Given the description of an element on the screen output the (x, y) to click on. 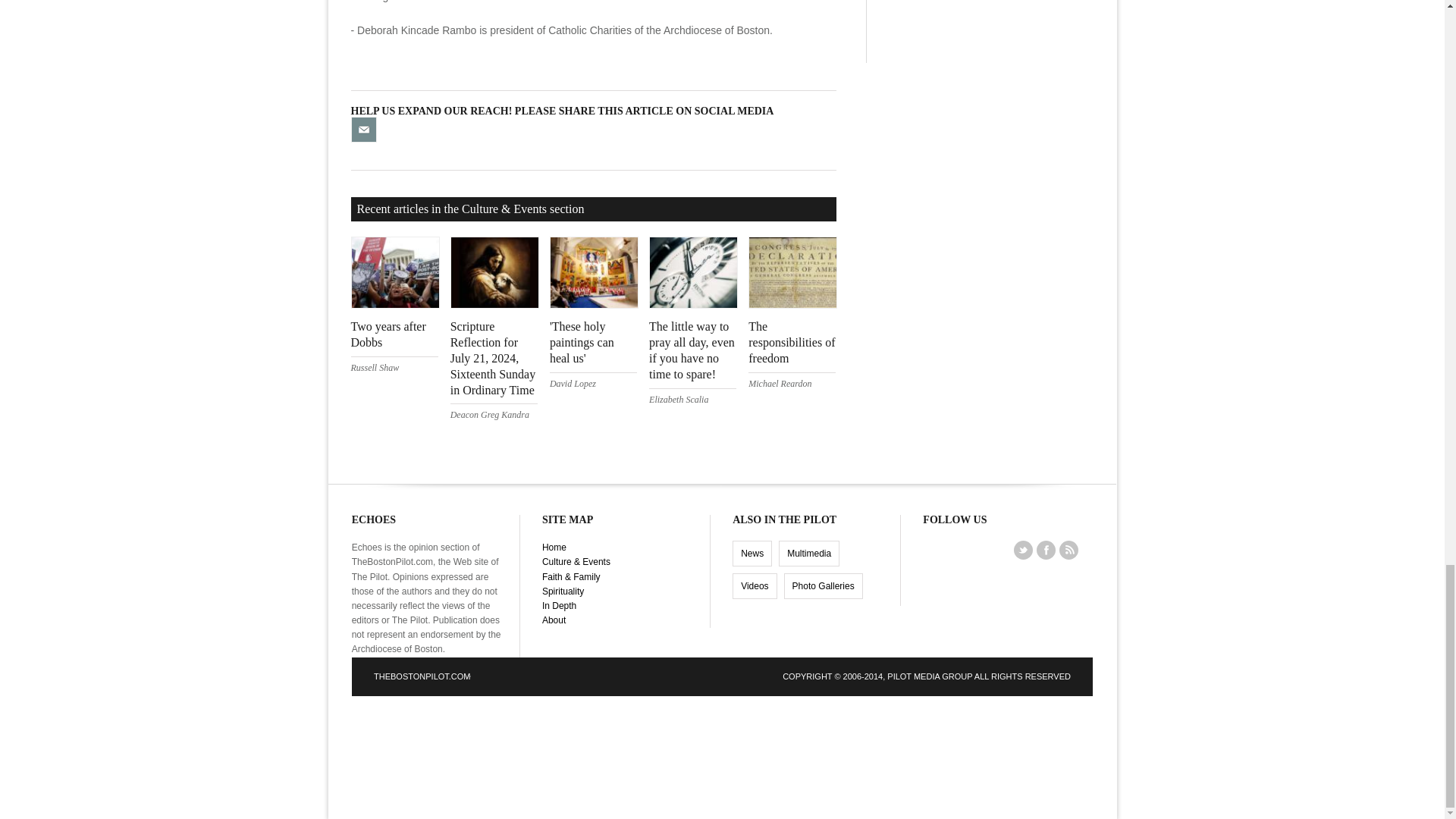
The responsibilities of freedom (791, 342)
Email a friend (362, 128)
'These holy paintings can heal us' (582, 342)
3rd party ad content (991, 31)
Twitter (1024, 549)
Two years after Dobbs (387, 334)
Facebook (1046, 549)
RSS (1067, 549)
3rd party ad content (721, 754)
